Given the description of an element on the screen output the (x, y) to click on. 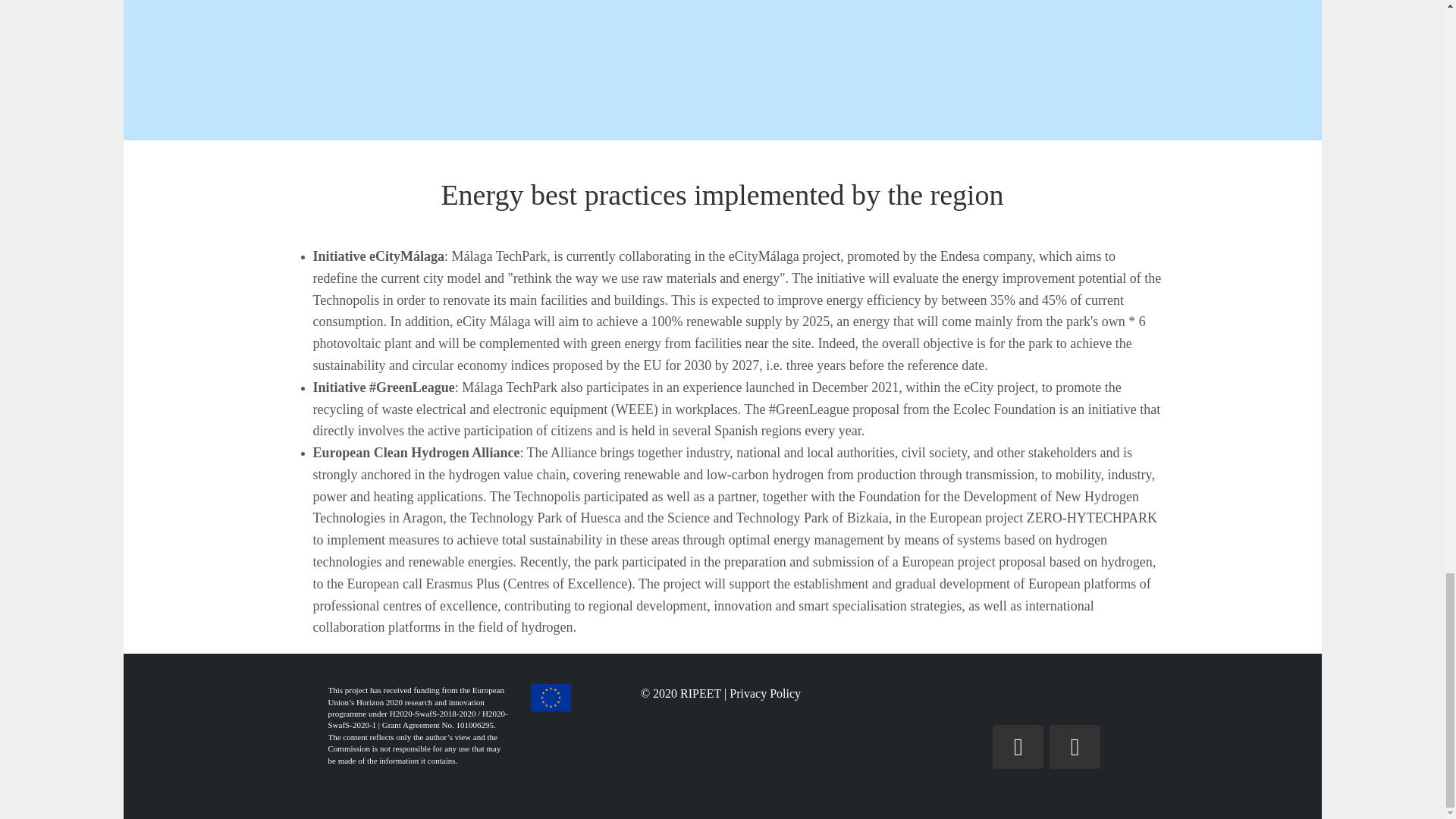
linkedin (1074, 746)
Privacy Policy (764, 693)
twitter (1017, 746)
